Given the description of an element on the screen output the (x, y) to click on. 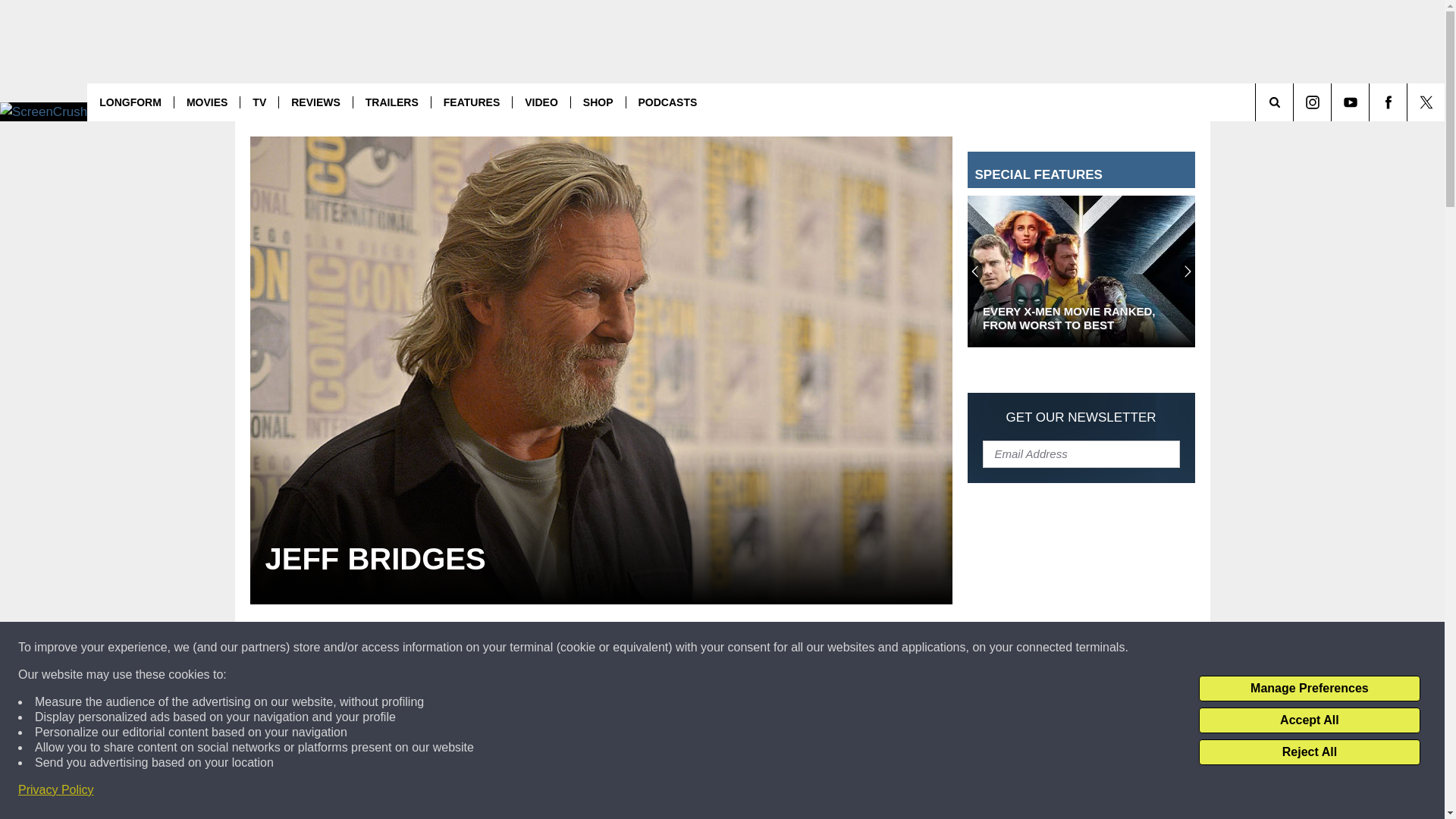
REVIEWS (315, 102)
MOVIES (206, 102)
VIDEO (541, 102)
Email Address (1080, 452)
SHOP (598, 102)
TRAILERS (391, 102)
FEATURES (471, 102)
Accept All (1309, 720)
PODCASTS (666, 102)
Privacy Policy (55, 789)
LONGFORM (130, 102)
SEARCH (1295, 102)
Visit us on Instagram (1312, 102)
Visit us on Facebook (1388, 102)
Reject All (1309, 751)
